Given the description of an element on the screen output the (x, y) to click on. 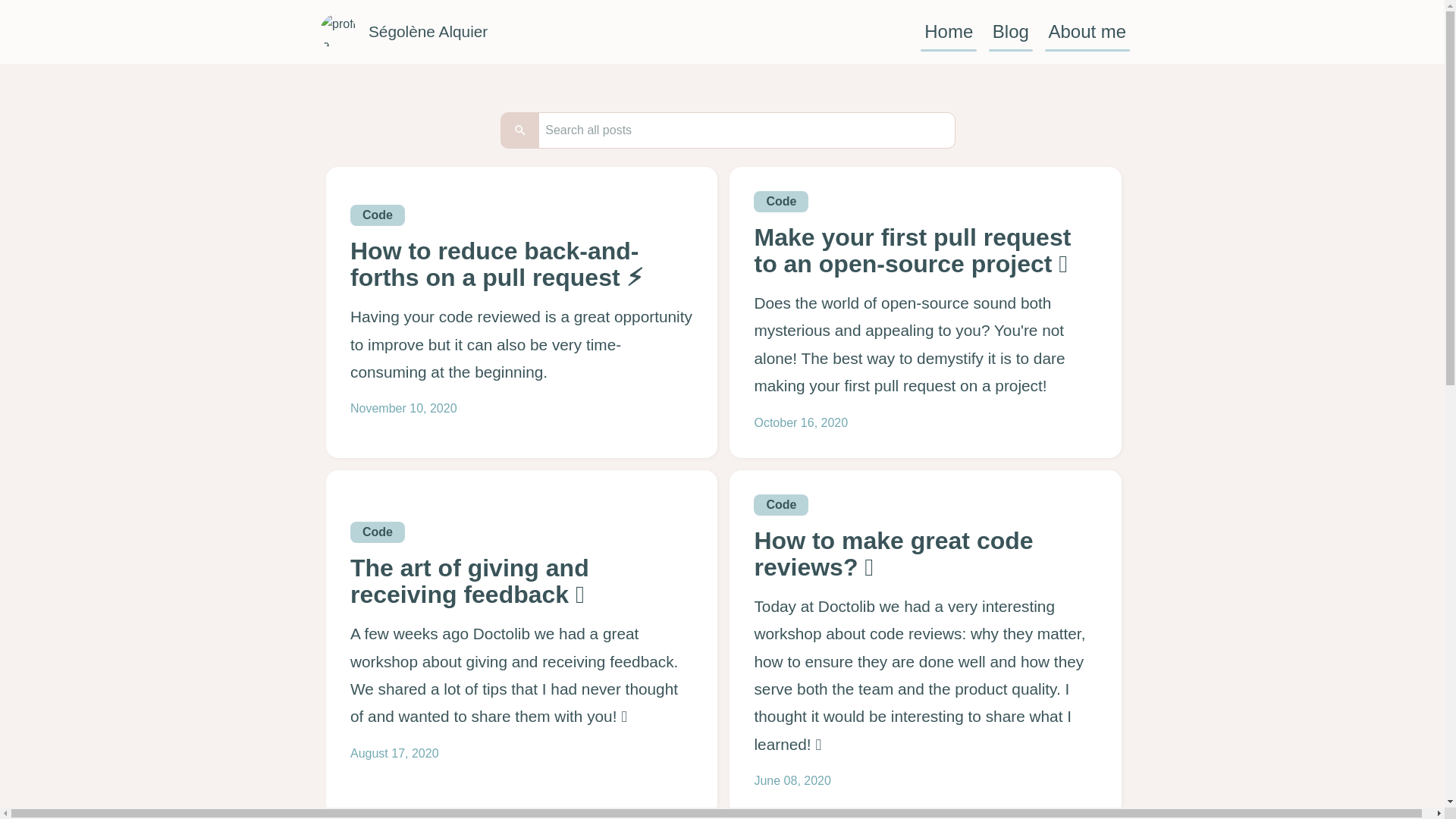
About me (1087, 31)
Blog (1010, 31)
Home (948, 31)
